Given the description of an element on the screen output the (x, y) to click on. 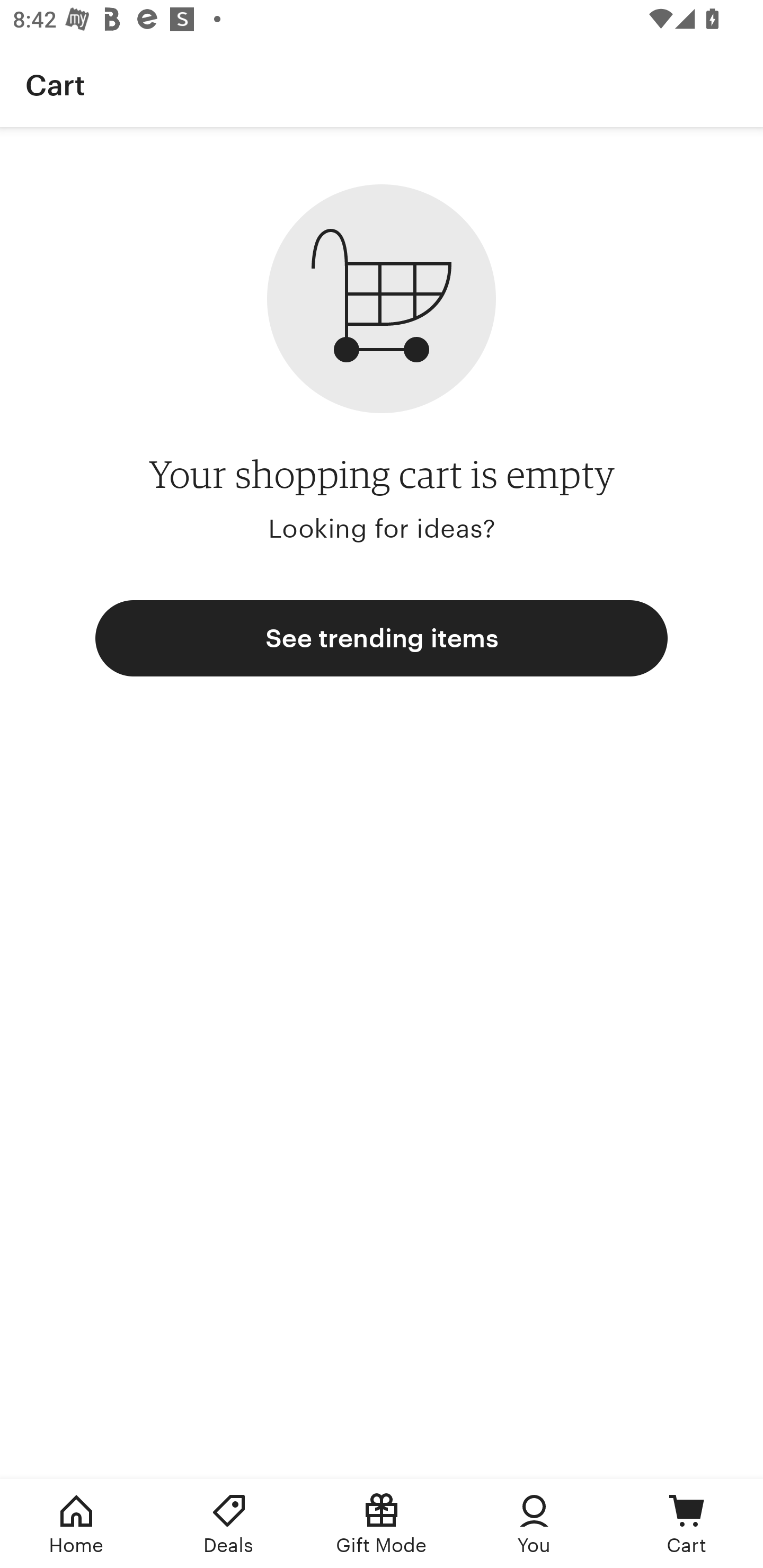
See trending items (381, 637)
Home (76, 1523)
Deals (228, 1523)
Gift Mode (381, 1523)
You (533, 1523)
